Given the description of an element on the screen output the (x, y) to click on. 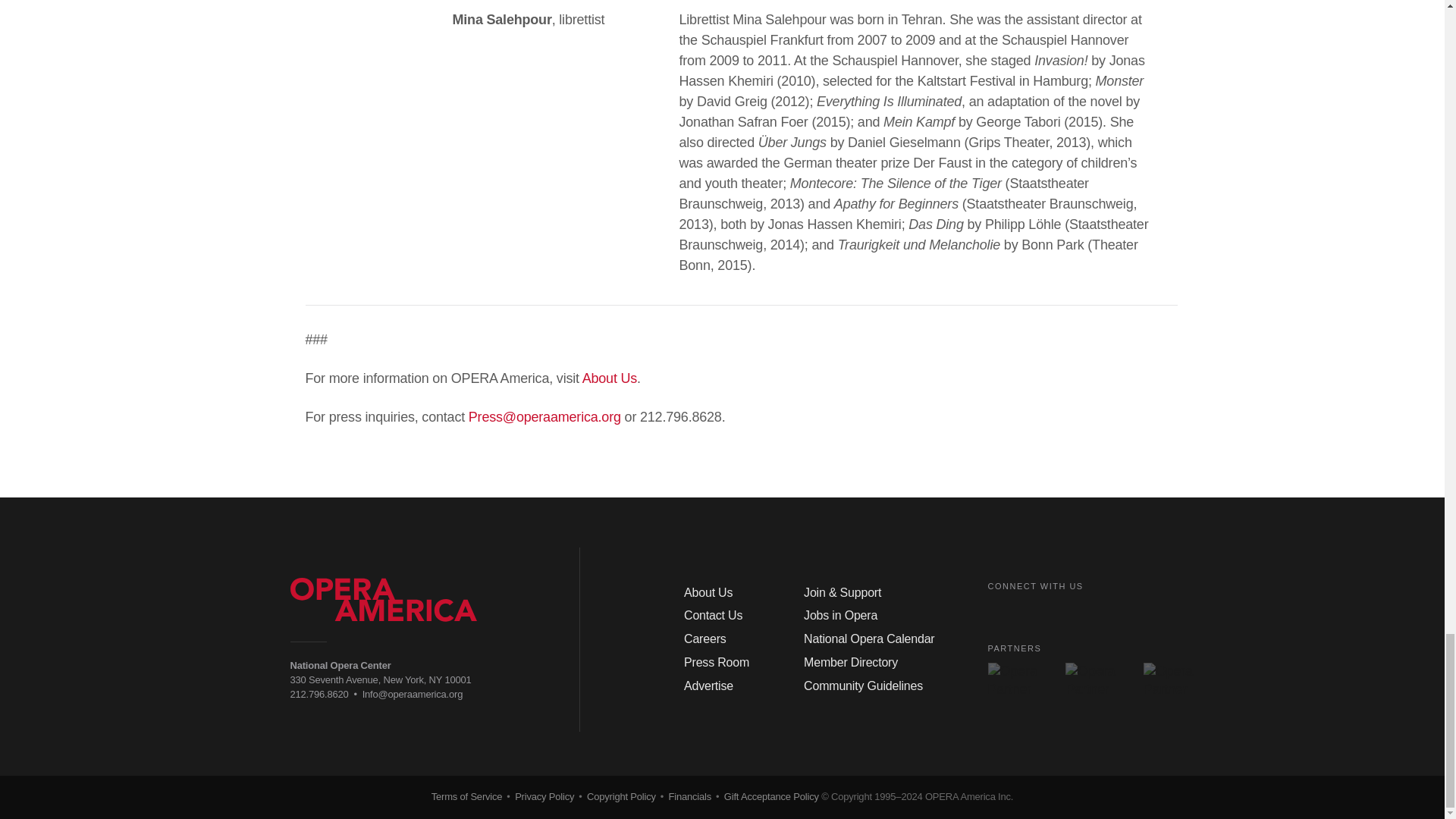
About Us (609, 378)
